Given the description of an element on the screen output the (x, y) to click on. 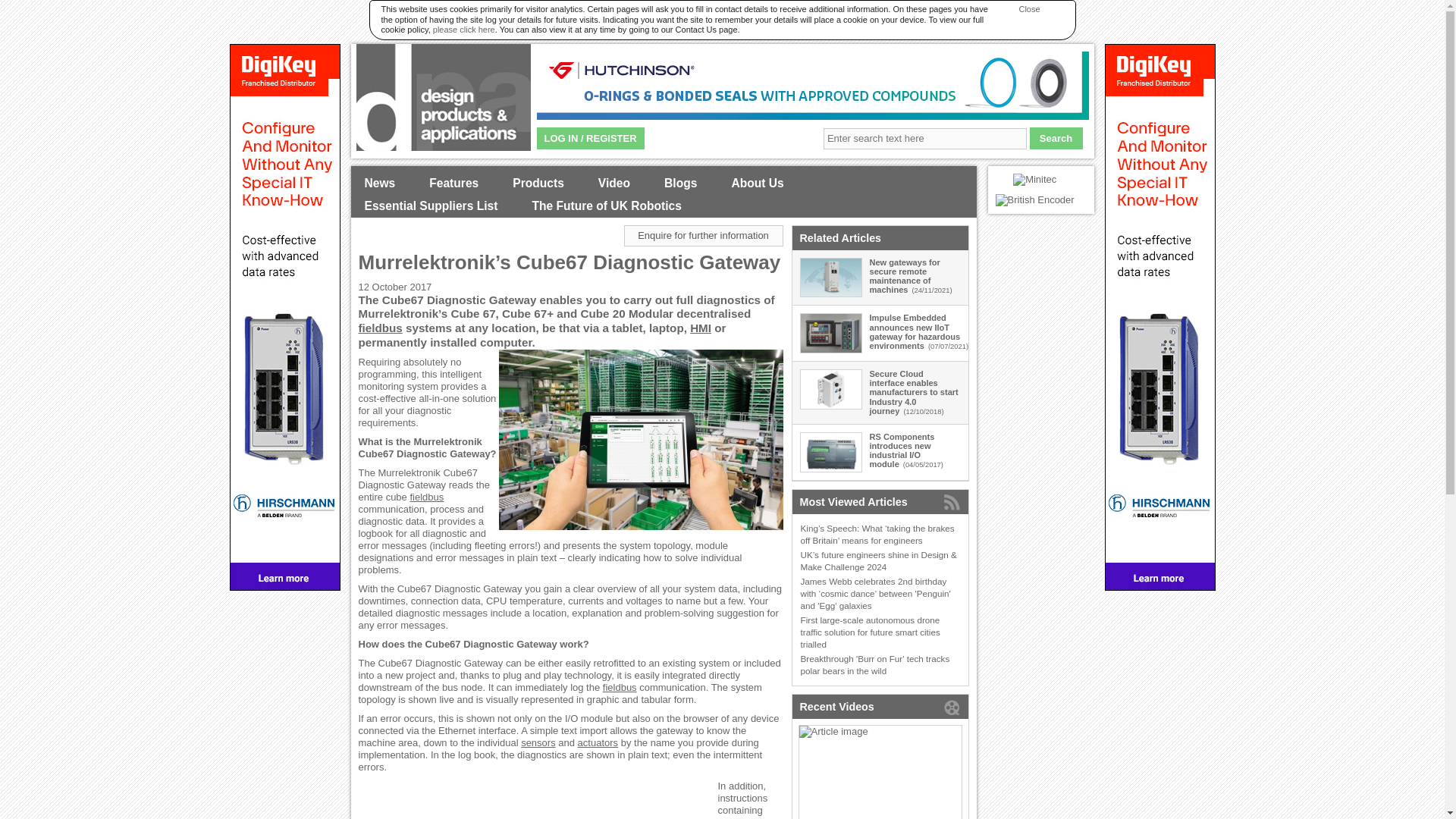
News (379, 183)
Features (454, 183)
Products (538, 183)
please click here (463, 29)
